Given the description of an element on the screen output the (x, y) to click on. 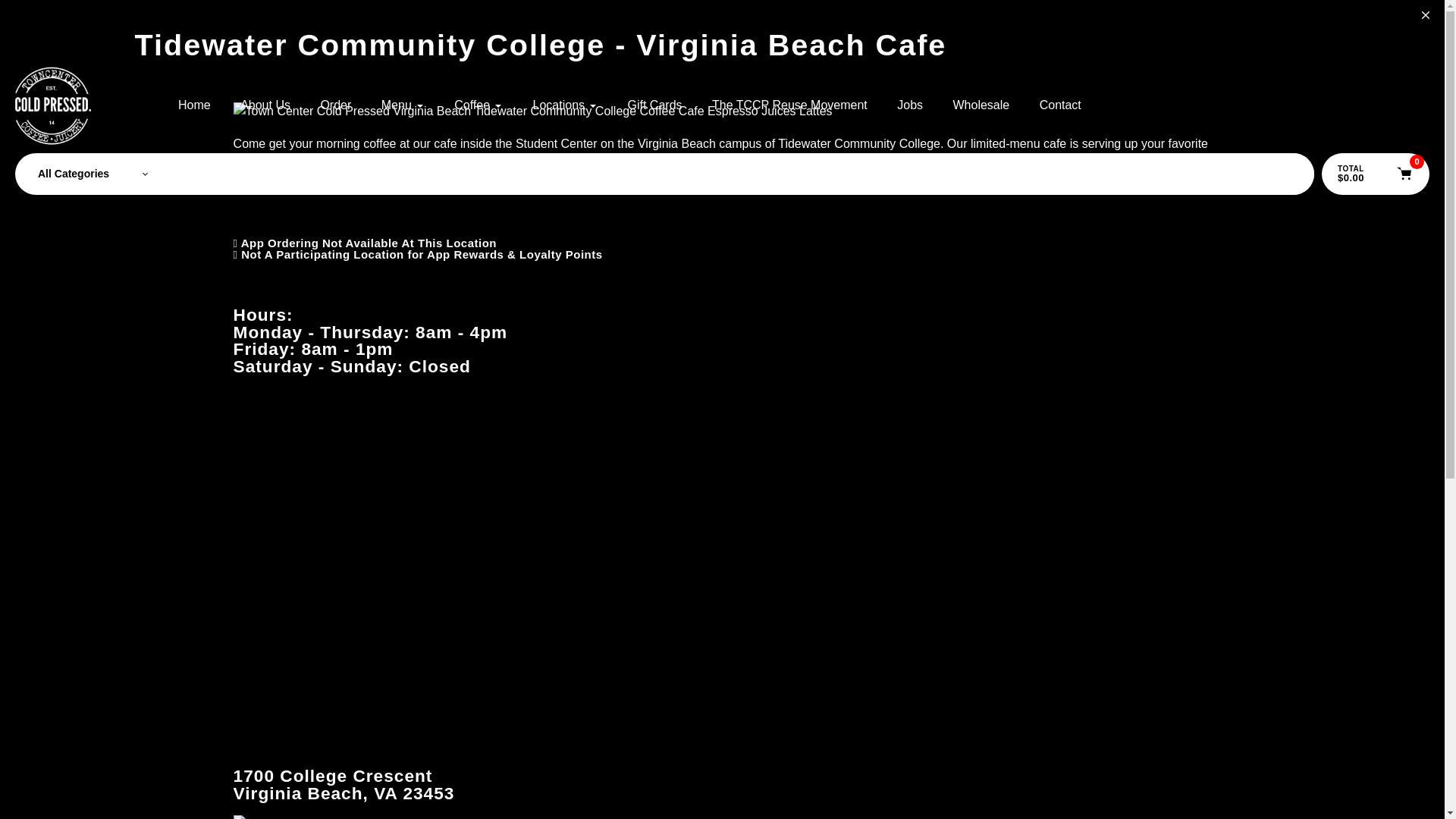
Coffee (478, 105)
Menu (403, 105)
Locations (565, 105)
Contact (1060, 105)
Order (335, 105)
The TCCP Reuse Movement (789, 105)
Jobs (909, 105)
Wholesale (981, 105)
All Categories (93, 174)
About Us (264, 105)
Home (194, 105)
0 (1404, 174)
Gift Cards (654, 105)
